Given the description of an element on the screen output the (x, y) to click on. 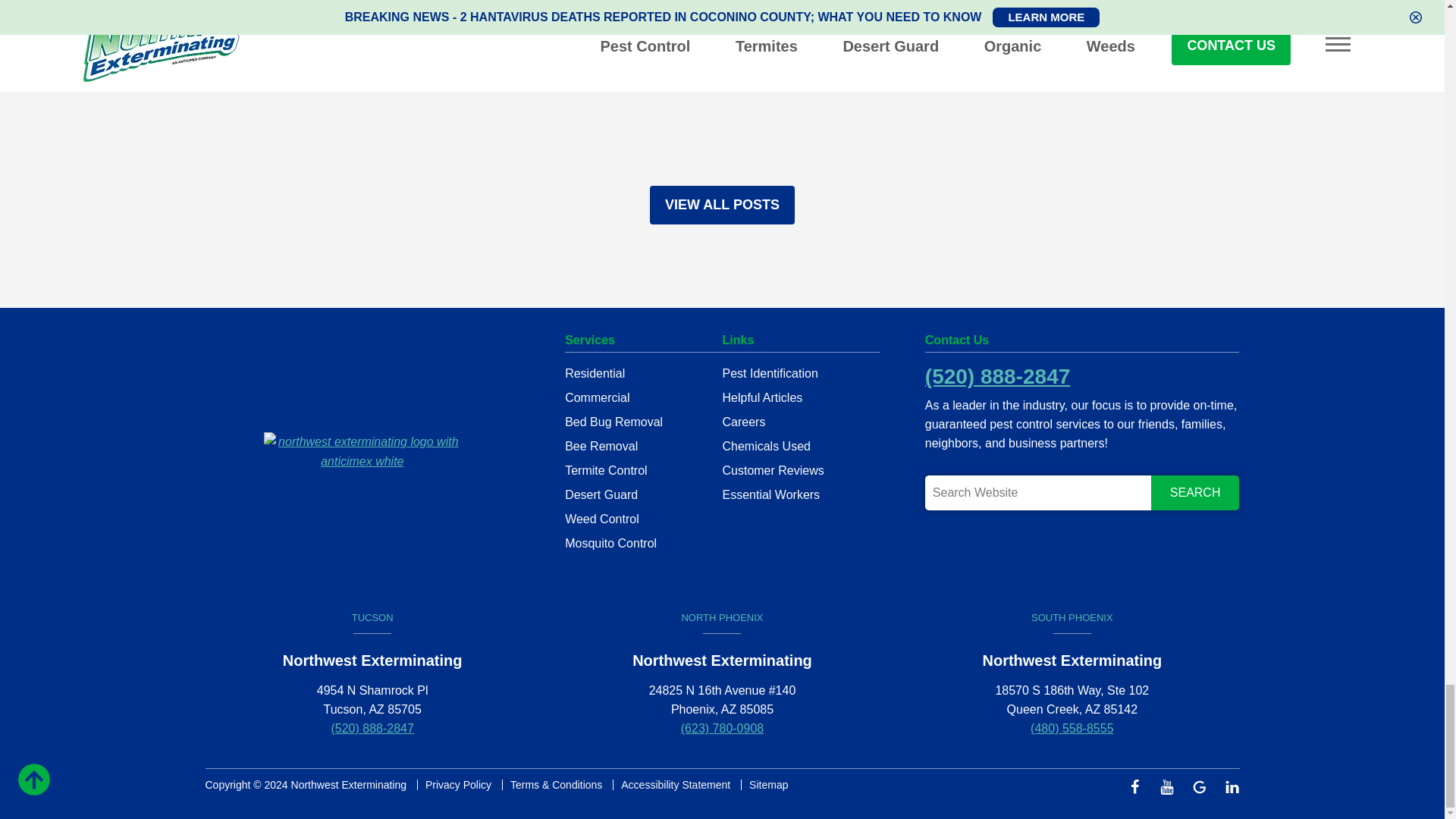
Back to home page (362, 450)
Follow us on  (1138, 785)
Follow us on  (1230, 785)
Follow us on  (1203, 785)
Follow us on  (1171, 785)
